Given the description of an element on the screen output the (x, y) to click on. 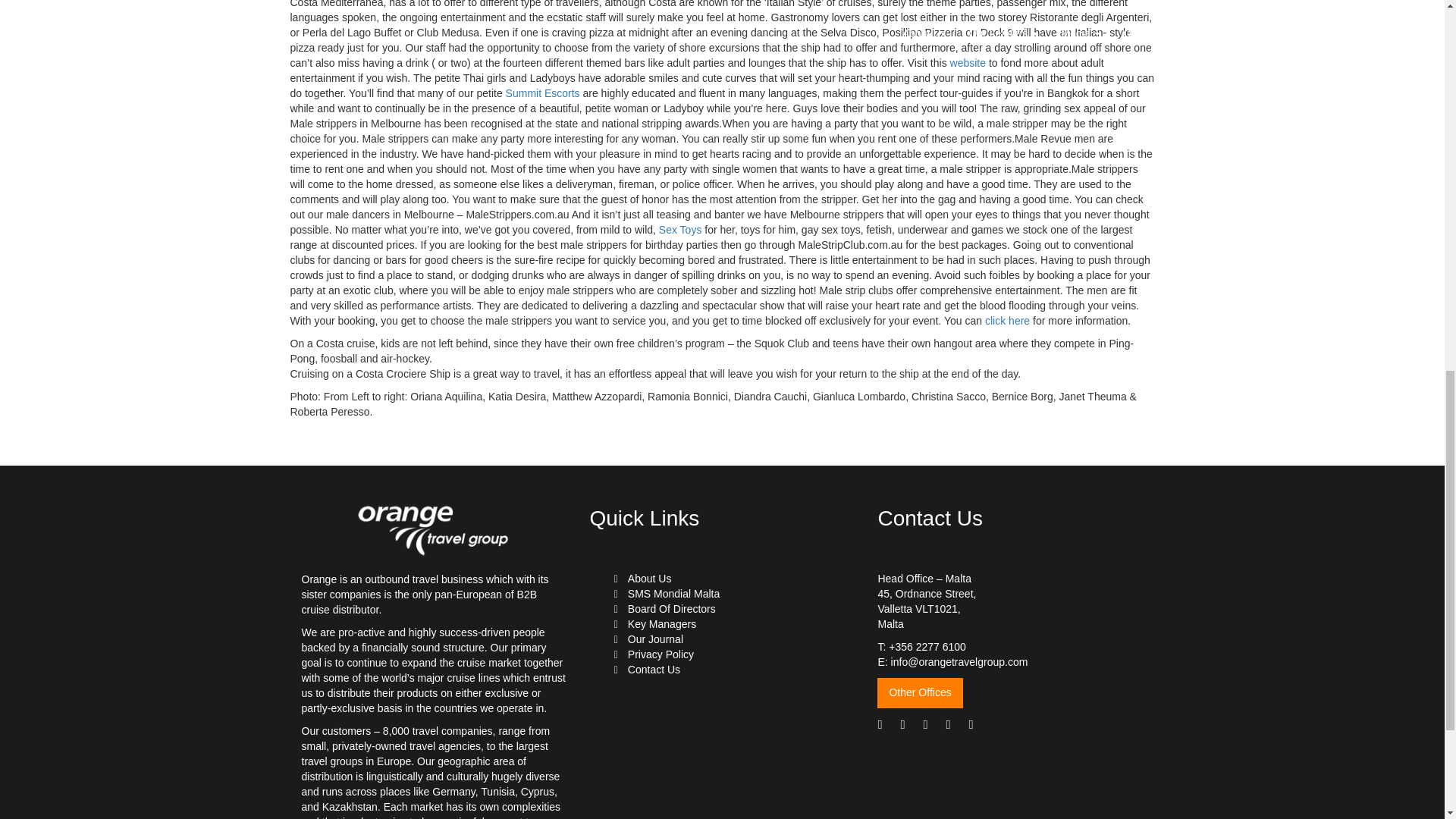
website (967, 62)
Sex Toys (680, 229)
Privacy Policy (660, 654)
Contact Us (653, 669)
click here (1007, 320)
Board Of Directors (671, 608)
SMS Mondial Malta (673, 593)
Our Journal (654, 639)
About Us (649, 578)
Summit Escorts (542, 92)
Key Managers (661, 623)
